Given the description of an element on the screen output the (x, y) to click on. 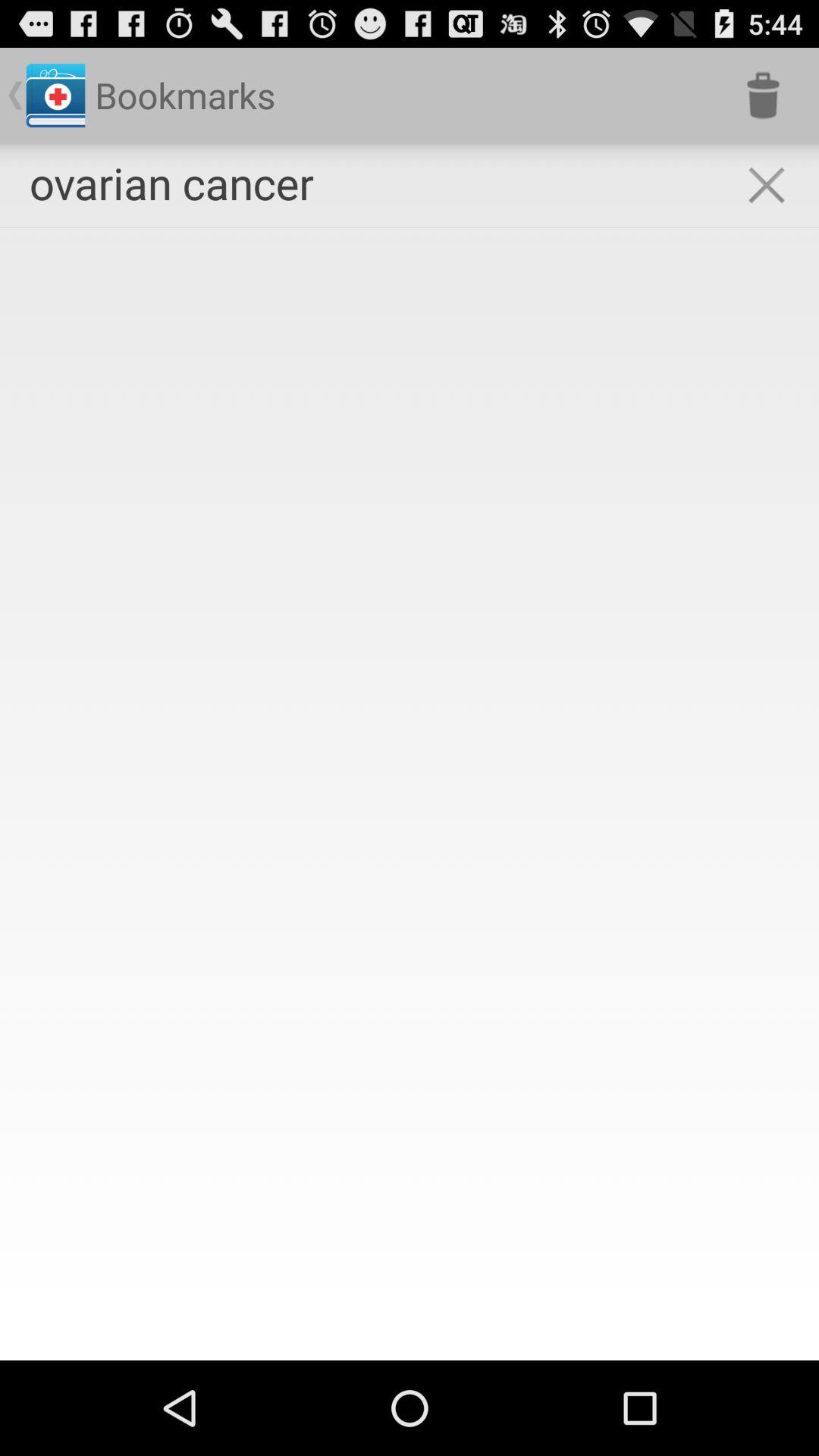
press ovarian cancer (171, 182)
